Given the description of an element on the screen output the (x, y) to click on. 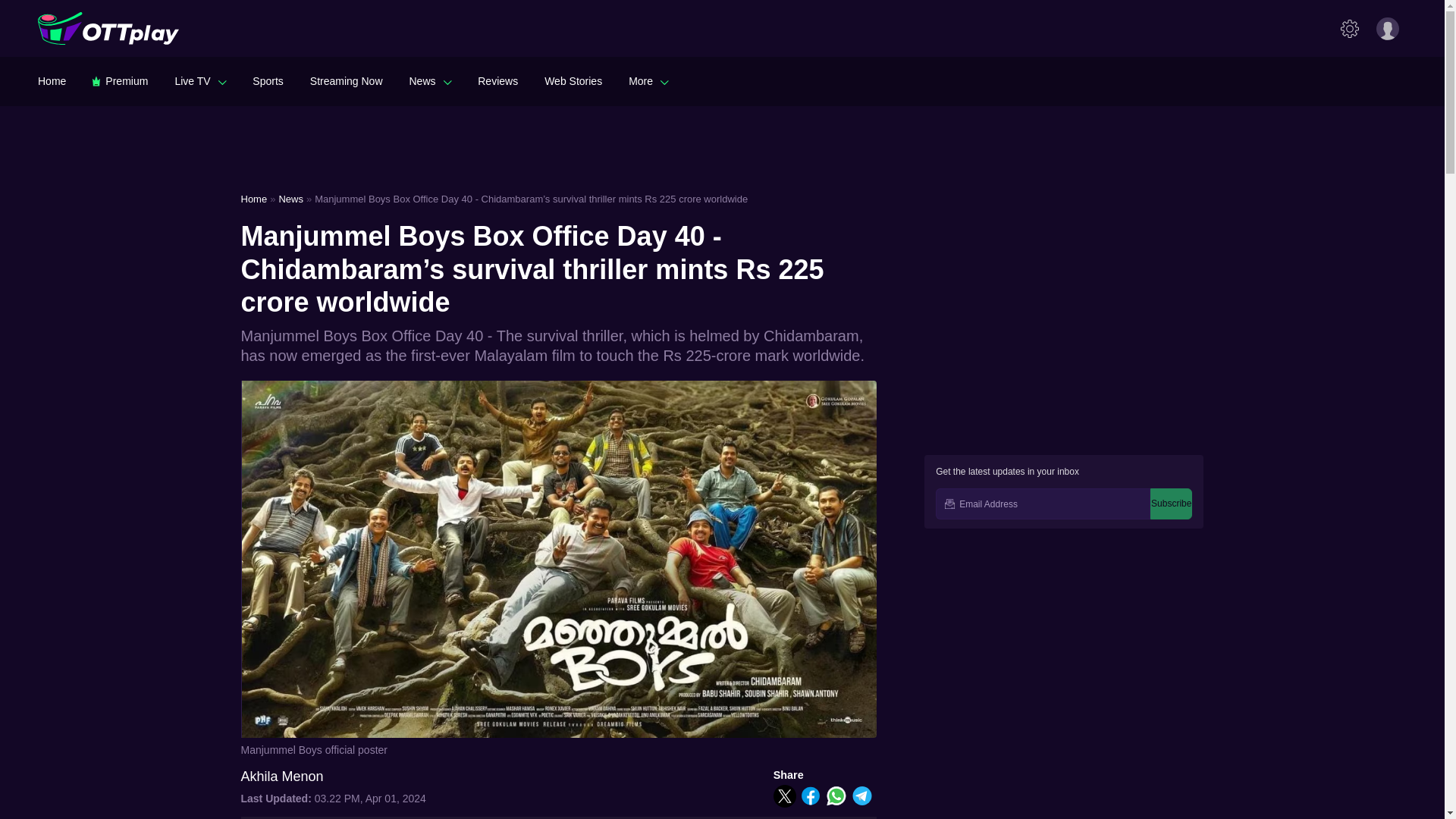
Live TV (199, 80)
Premium (120, 80)
News (430, 80)
Streaming Now (346, 80)
Web Stories (573, 80)
